Given the description of an element on the screen output the (x, y) to click on. 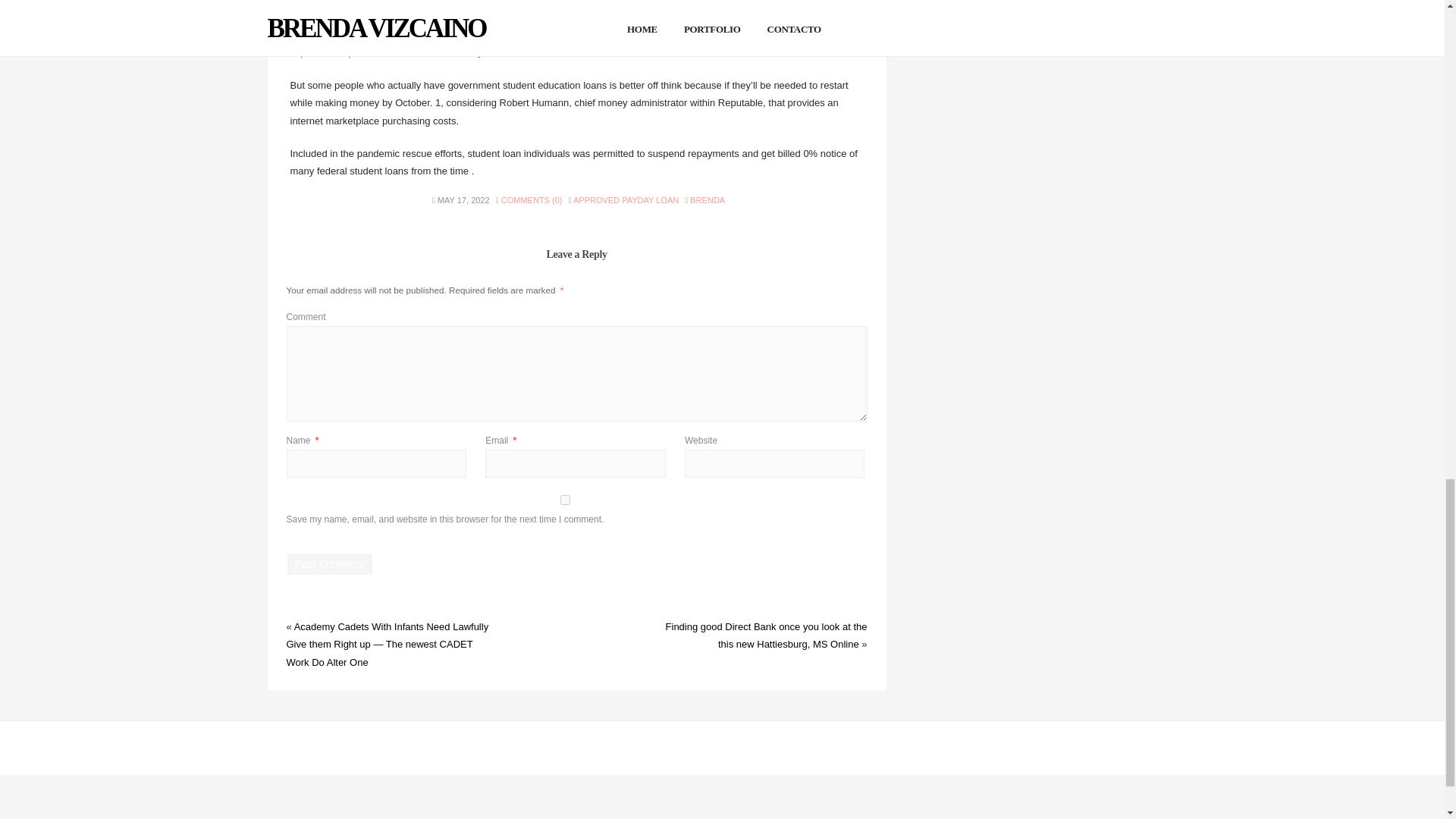
APPROVED PAYDAY LOAN (625, 199)
Post Comment (329, 563)
BRENDA (707, 199)
Posts by Brenda (707, 199)
Post Comment (329, 563)
yes (565, 500)
